Given the description of an element on the screen output the (x, y) to click on. 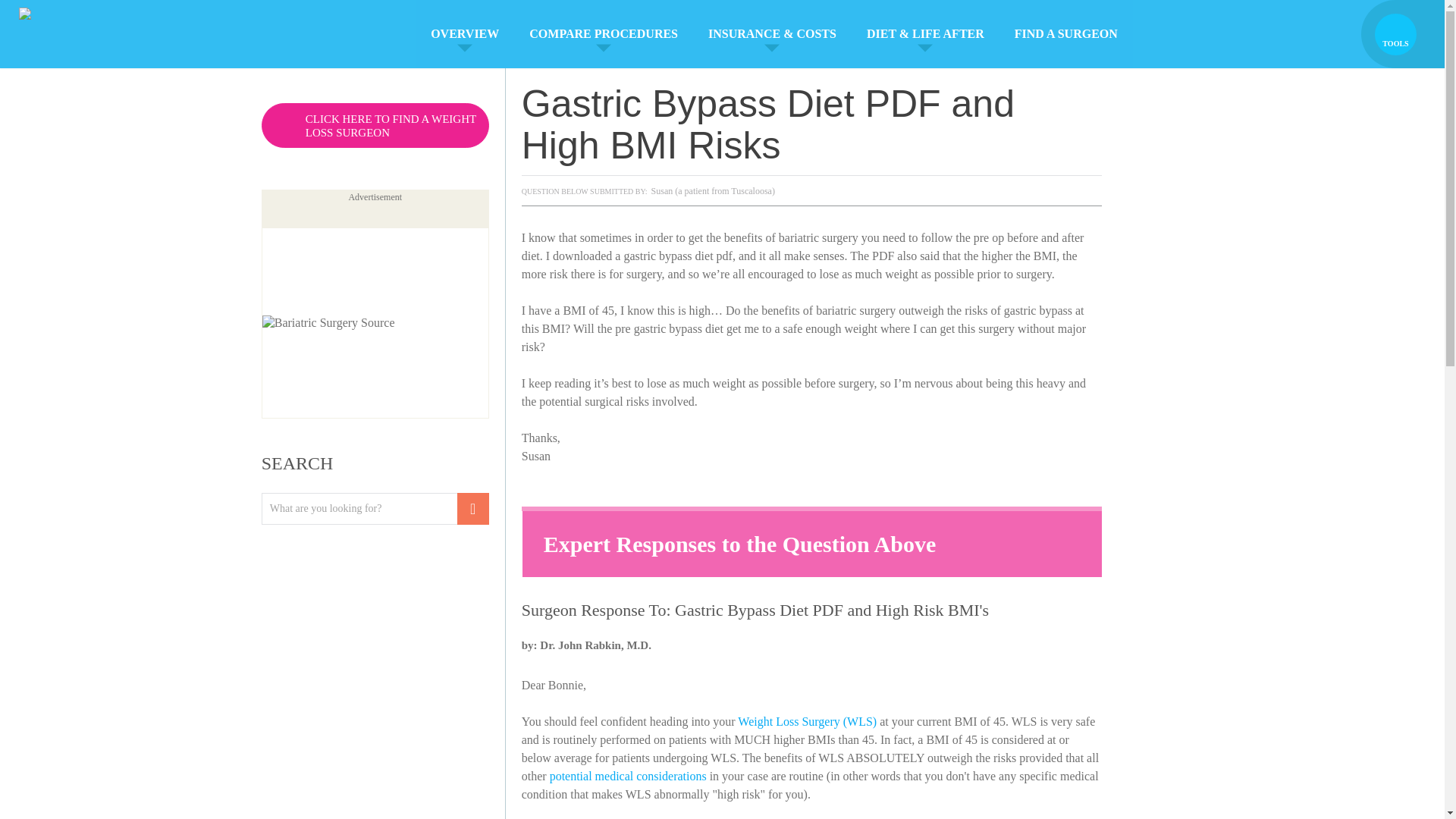
COMPARE PROCEDURES (603, 33)
What are you looking for? (375, 508)
OVERVIEW (463, 33)
Bariatric Surgery Source (72, 33)
